Given the description of an element on the screen output the (x, y) to click on. 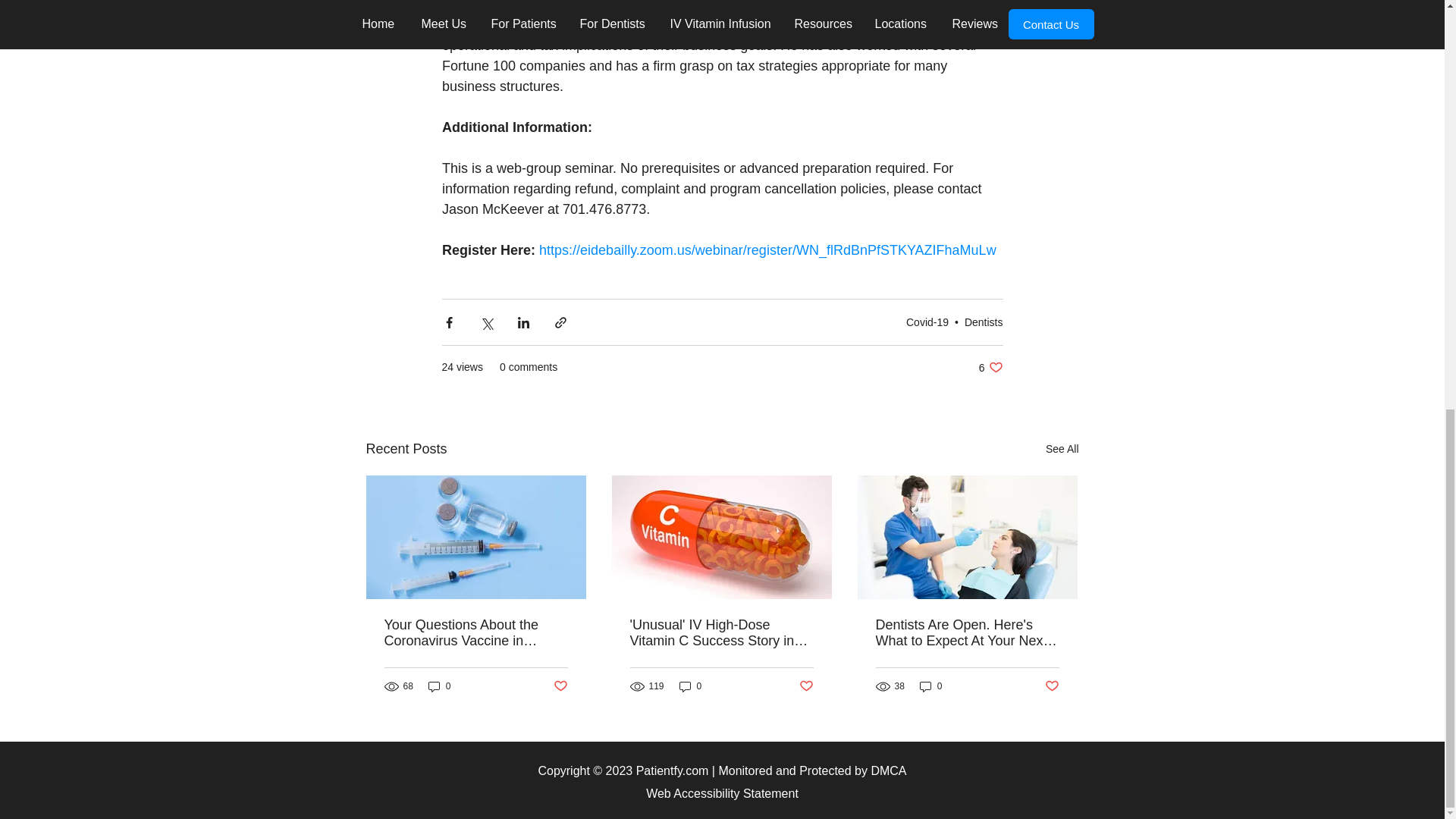
Covid-19 (927, 322)
Dentists (983, 322)
